Given the description of an element on the screen output the (x, y) to click on. 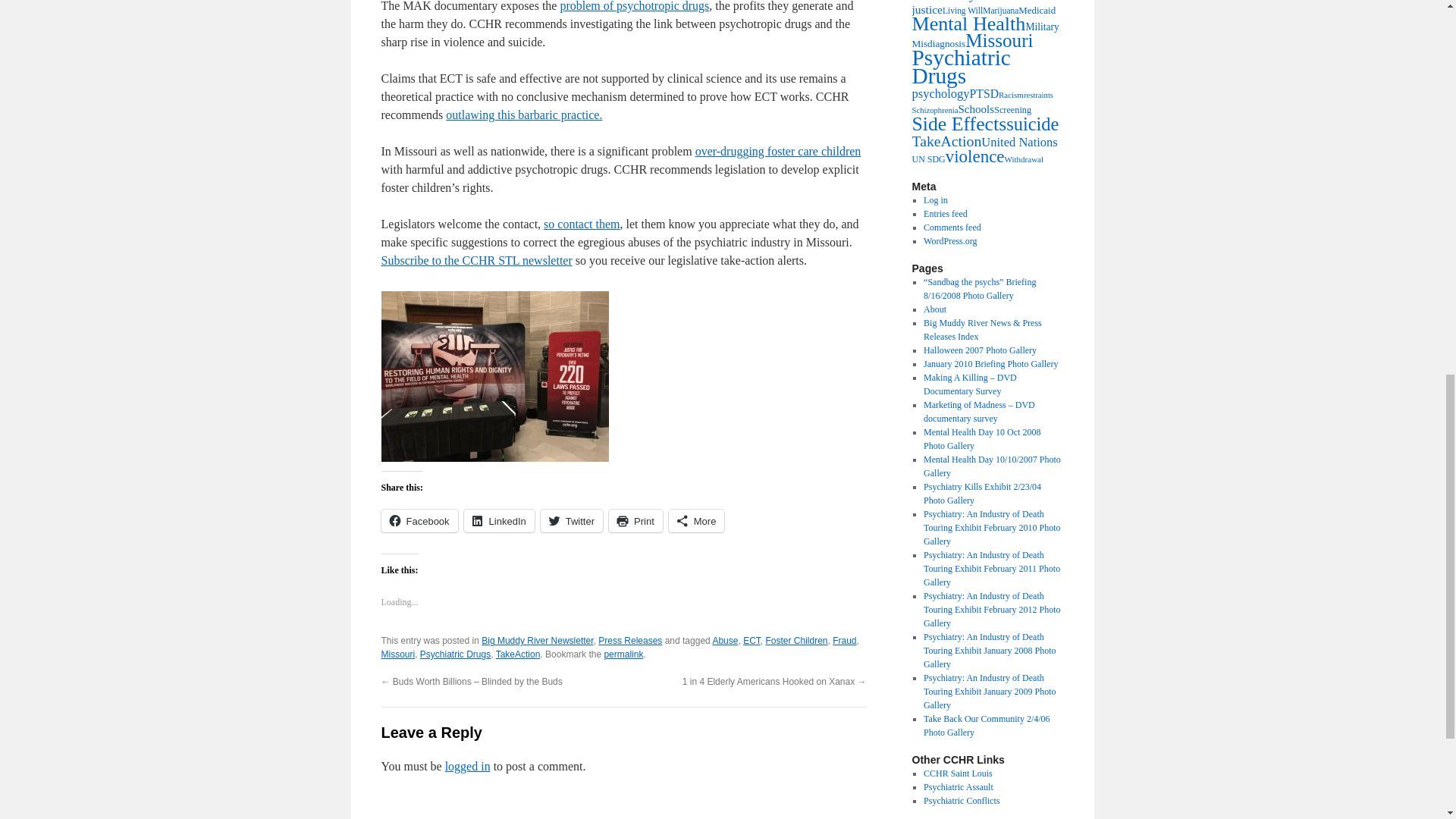
CCHR Saint Louis (957, 773)
Click to share on Twitter (571, 520)
Big Muddy River Newsletter (536, 640)
Click to print (635, 520)
Twitter (571, 520)
logged in (467, 766)
Fraud (844, 640)
Subscribe to the CCHR STL newsletter (476, 259)
permalink (623, 654)
problem of psychotropic drugs (634, 6)
